Given the description of an element on the screen output the (x, y) to click on. 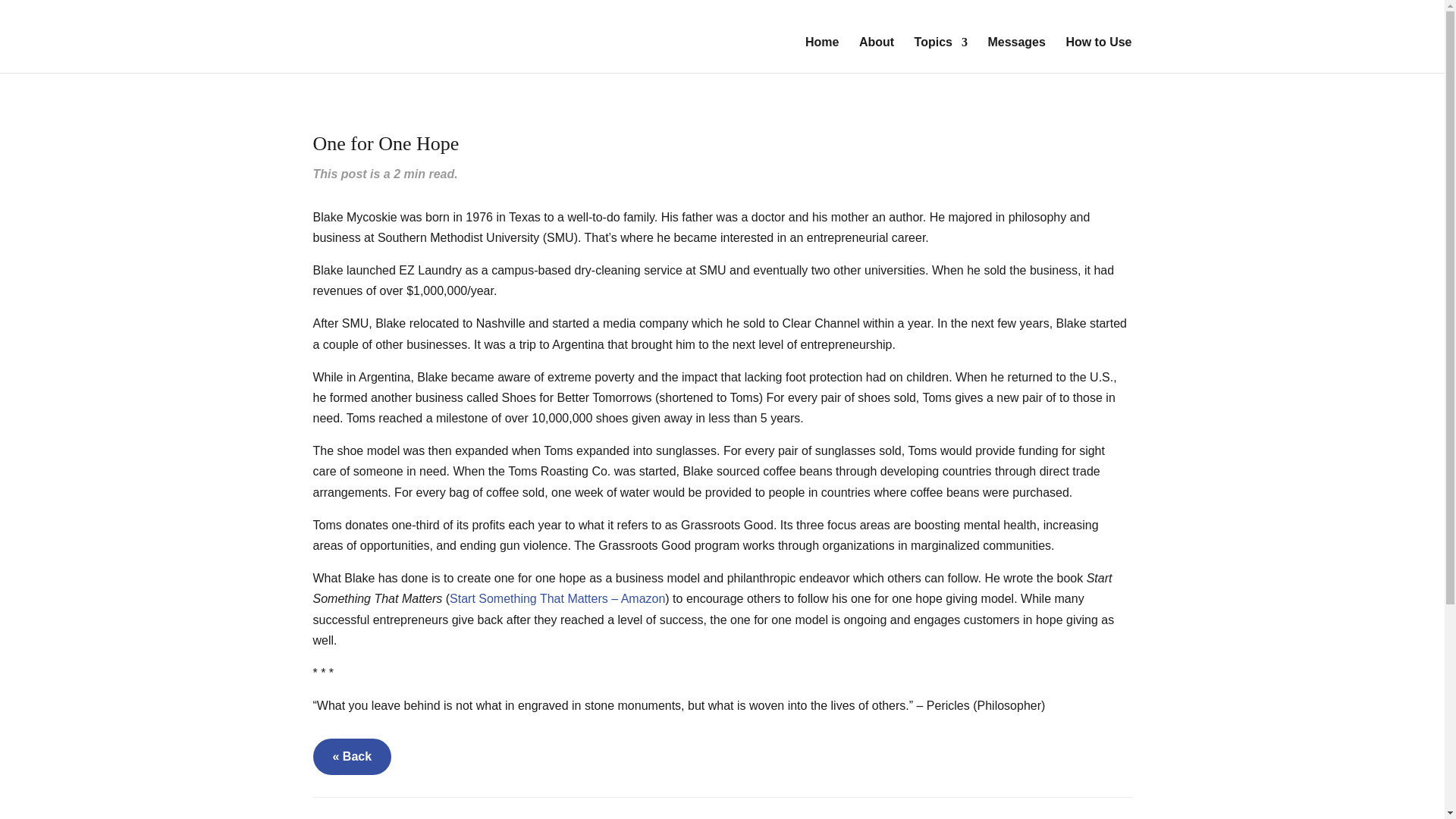
Home (821, 54)
Topics (941, 54)
How to Use (1098, 54)
Messages (1016, 54)
About (876, 54)
